Given the description of an element on the screen output the (x, y) to click on. 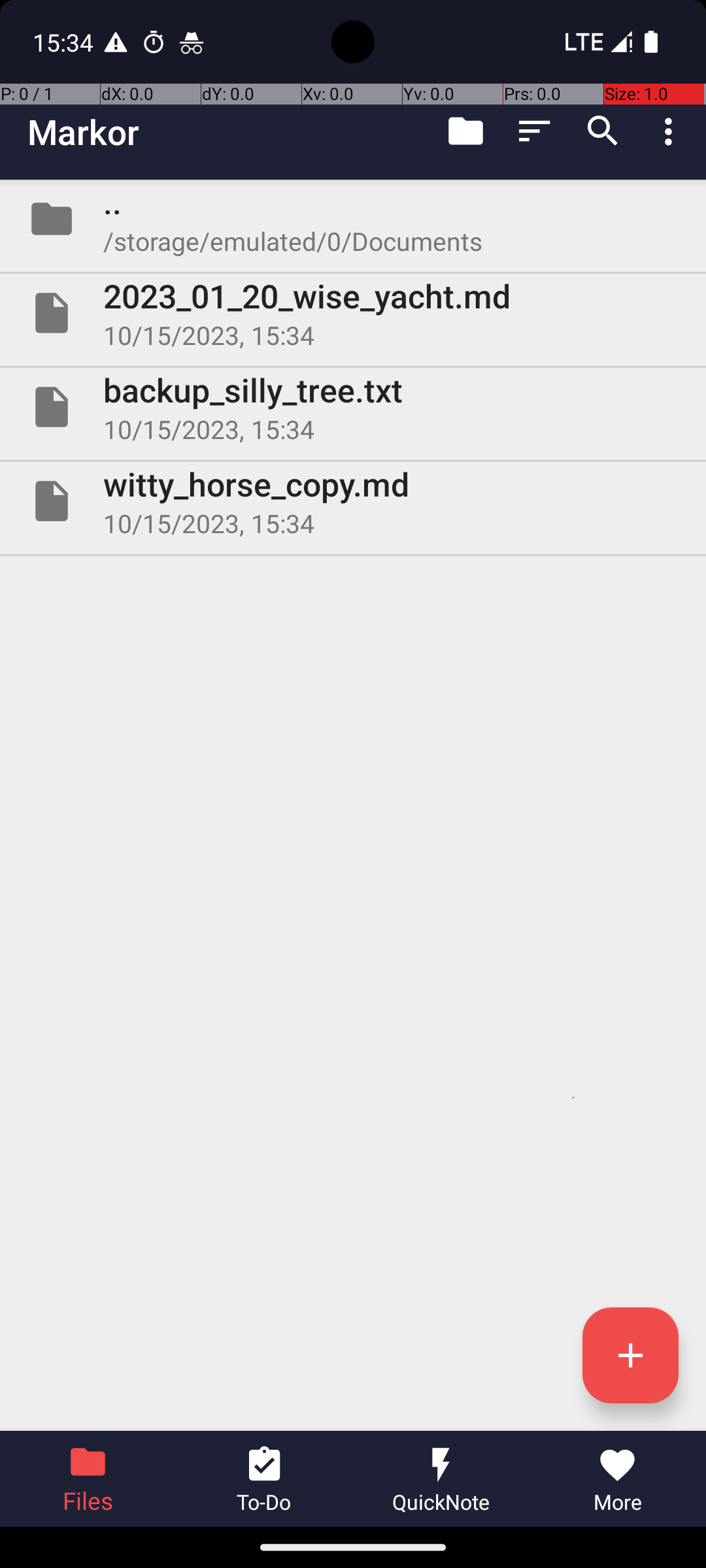
File 2023_01_20_wise_yacht.md  Element type: android.widget.LinearLayout (353, 312)
File backup_silly_tree.txt  Element type: android.widget.LinearLayout (353, 406)
File witty_horse_copy.md  Element type: android.widget.LinearLayout (353, 500)
